Given the description of an element on the screen output the (x, y) to click on. 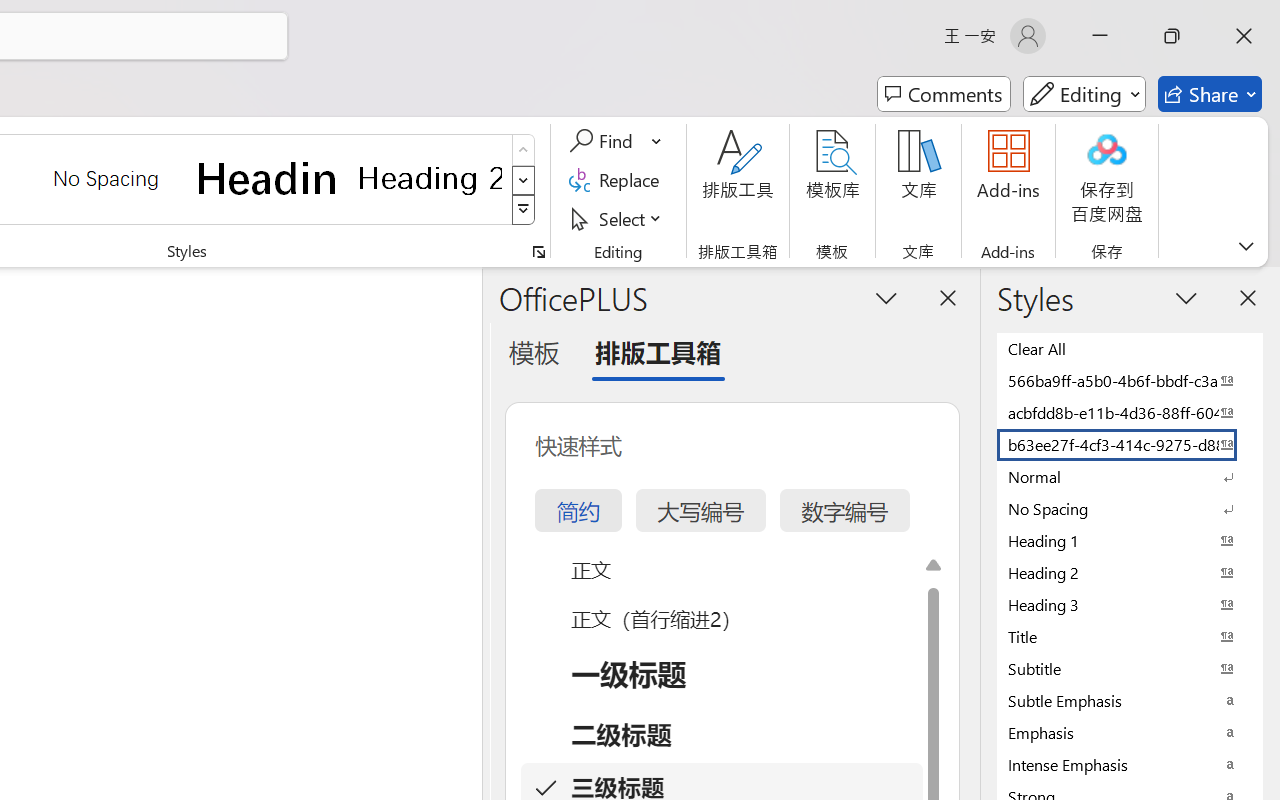
Heading 3 (1130, 604)
Normal (1130, 476)
Heading 1 (267, 178)
Subtitle (1130, 668)
566ba9ff-a5b0-4b6f-bbdf-c3ab41993fc2 (1130, 380)
Select (618, 218)
Clear All (1130, 348)
